Given the description of an element on the screen output the (x, y) to click on. 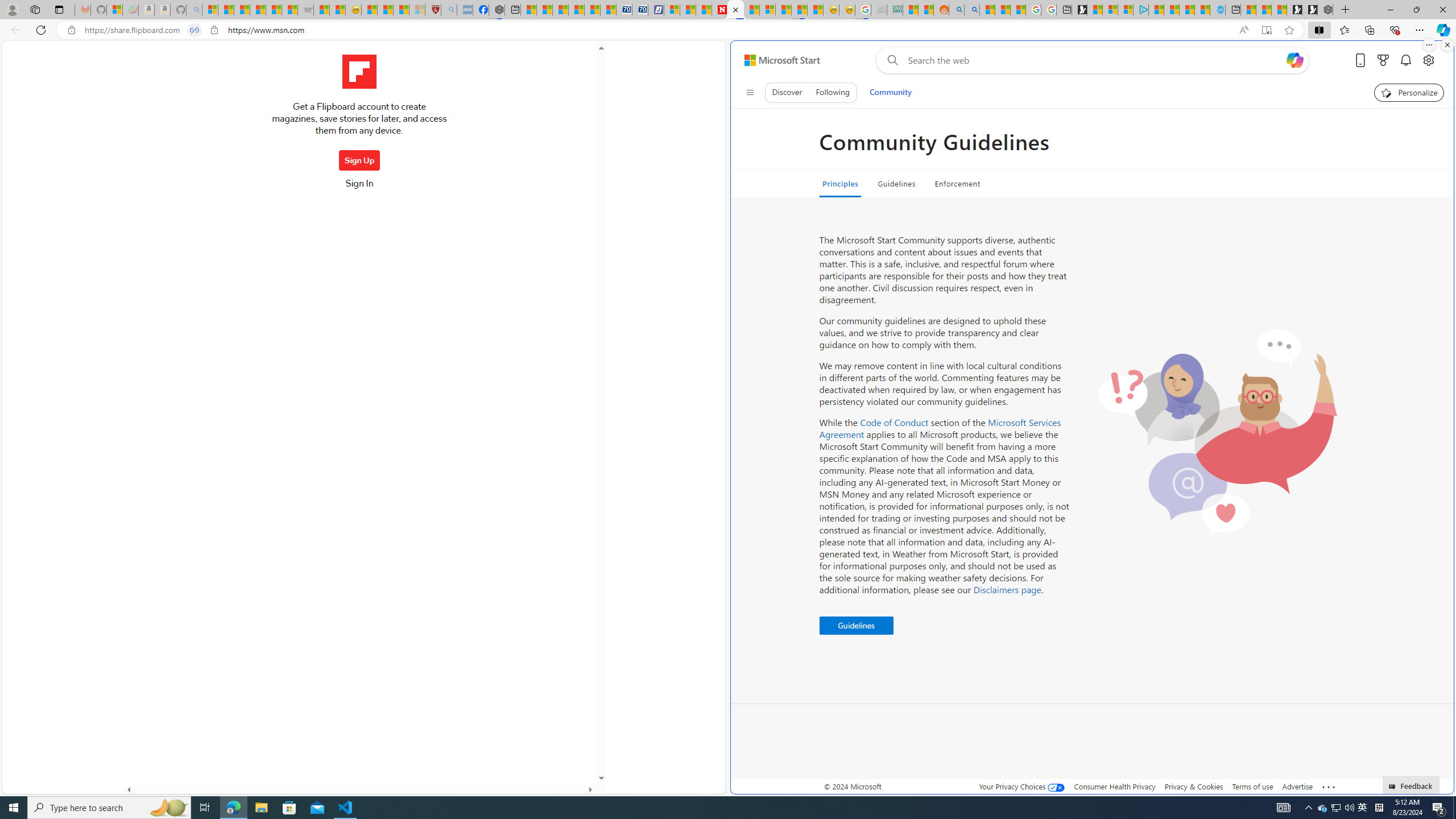
Cheap Hotels - Save70.com (639, 9)
